Given the description of an element on the screen output the (x, y) to click on. 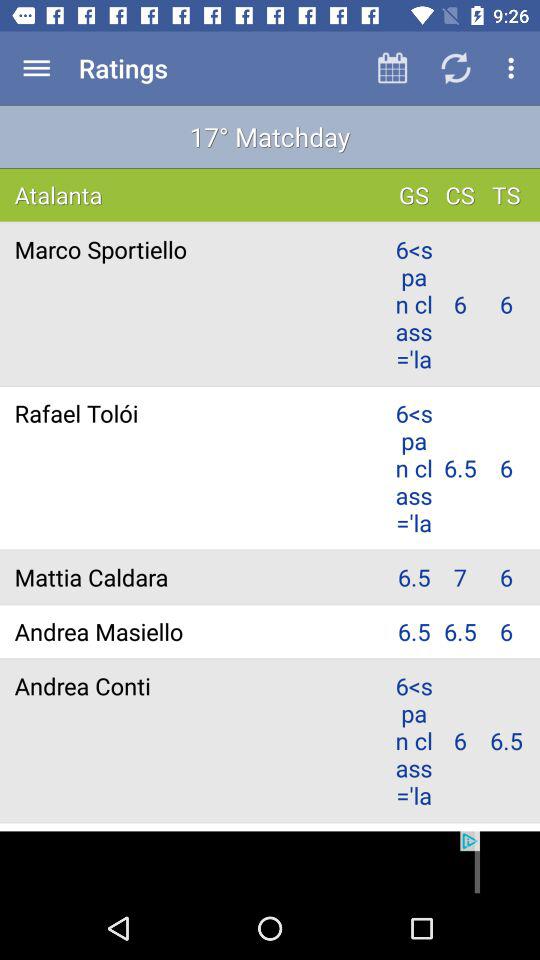
lateral menu (36, 68)
